Given the description of an element on the screen output the (x, y) to click on. 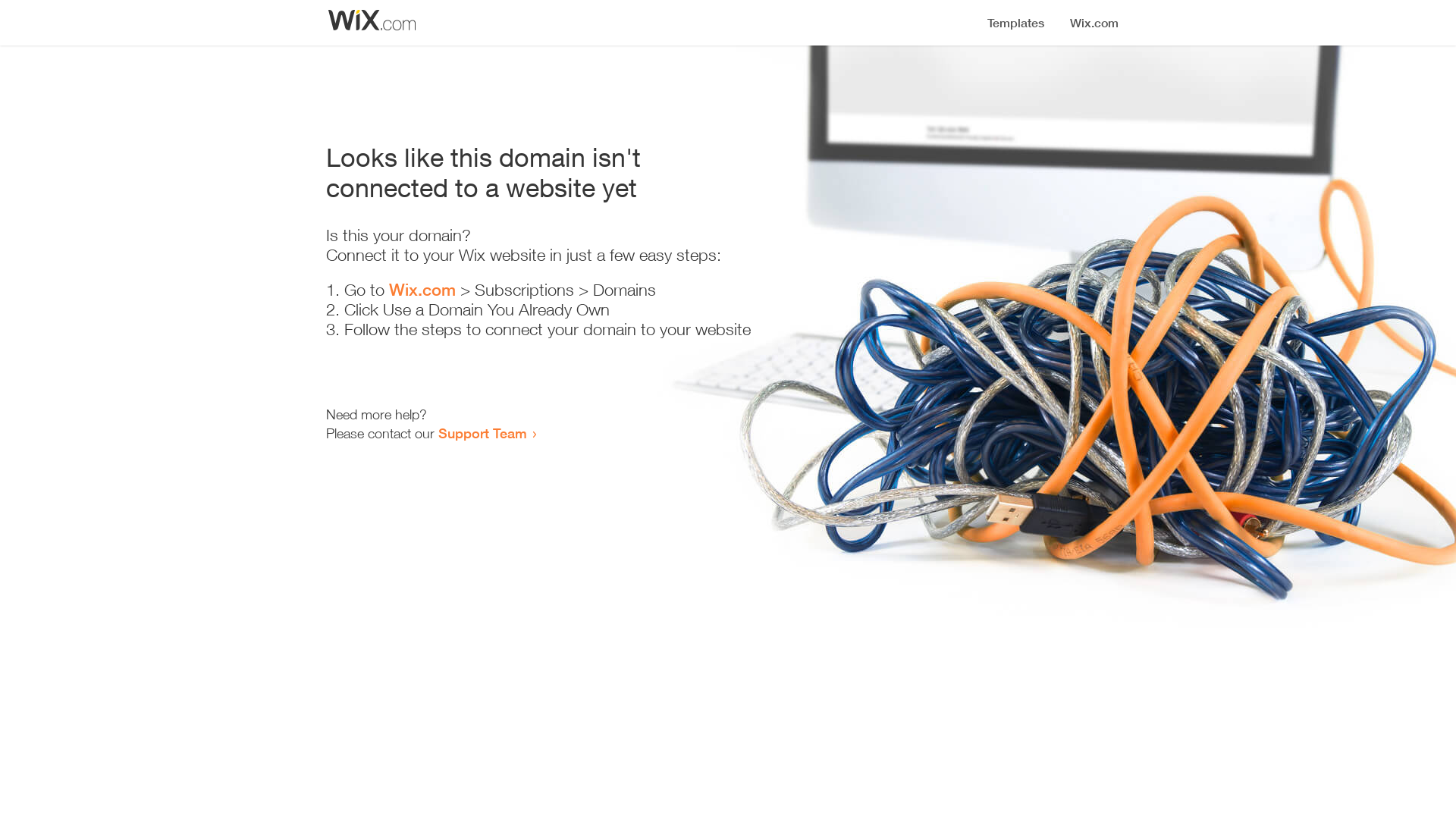
Support Team Element type: text (482, 432)
Wix.com Element type: text (422, 289)
